Given the description of an element on the screen output the (x, y) to click on. 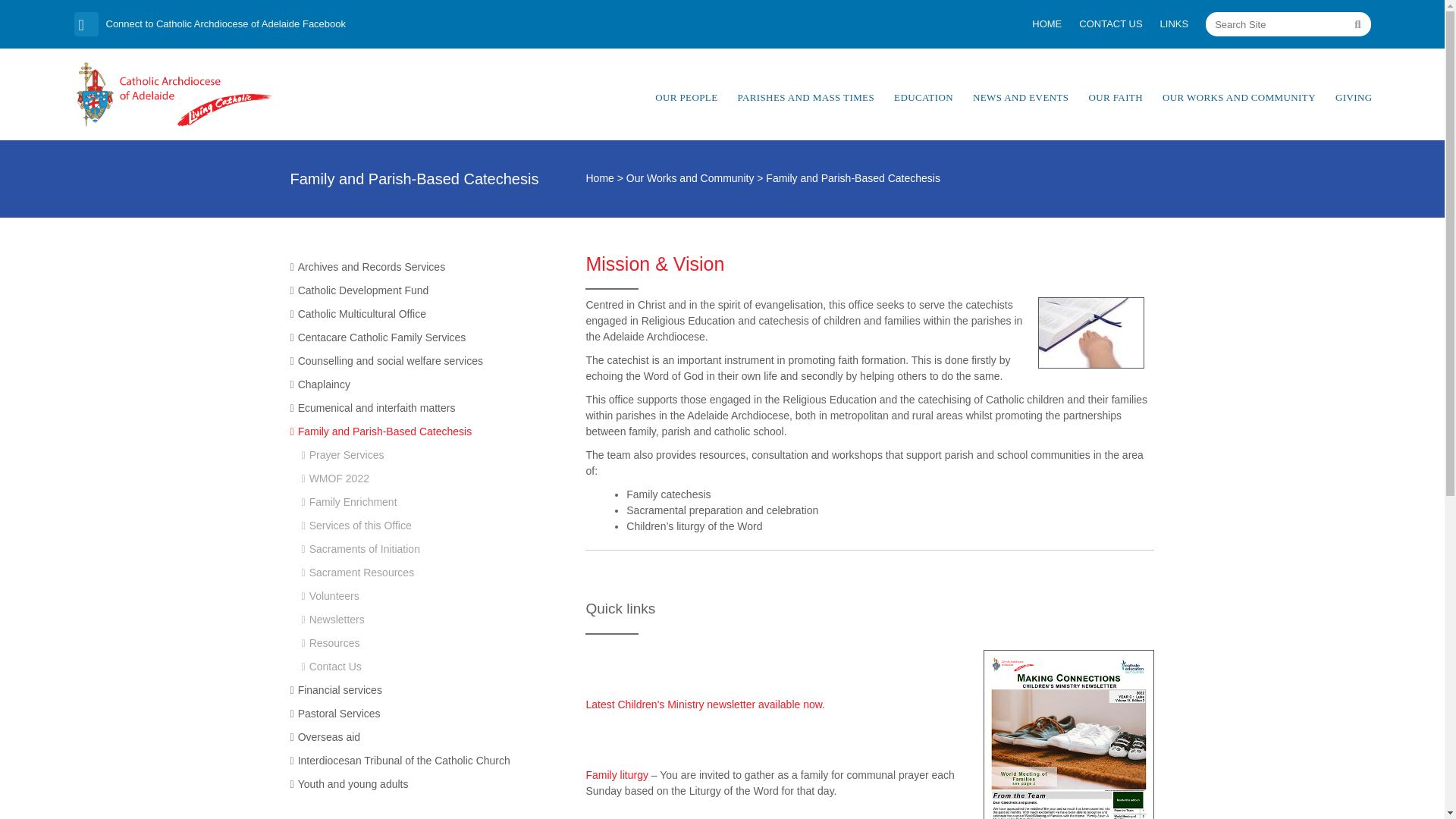
Search this Site (1357, 24)
OUR PEOPLE (685, 97)
Connect to Catholic Archdiocese of Adelaide Facebook (392, 24)
CONTACT US (1109, 23)
Our People (685, 97)
LINKS (1174, 23)
HOME (1046, 23)
